Given the description of an element on the screen output the (x, y) to click on. 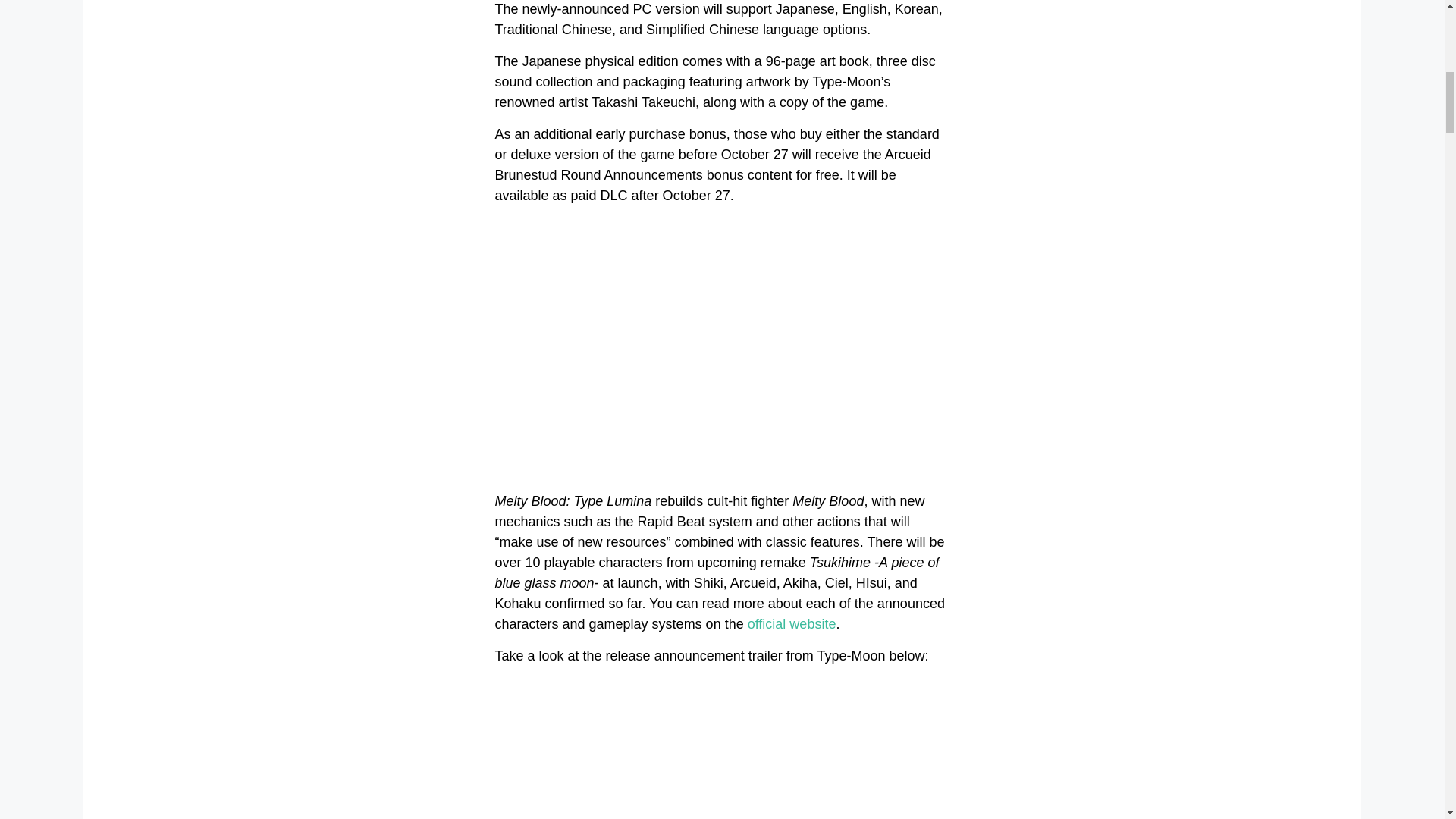
official website (791, 623)
MELTY BLOOD: TYPE LUMINA Release Announcement Trailer (722, 748)
Melty Blood Arcueid (722, 345)
